Given the description of an element on the screen output the (x, y) to click on. 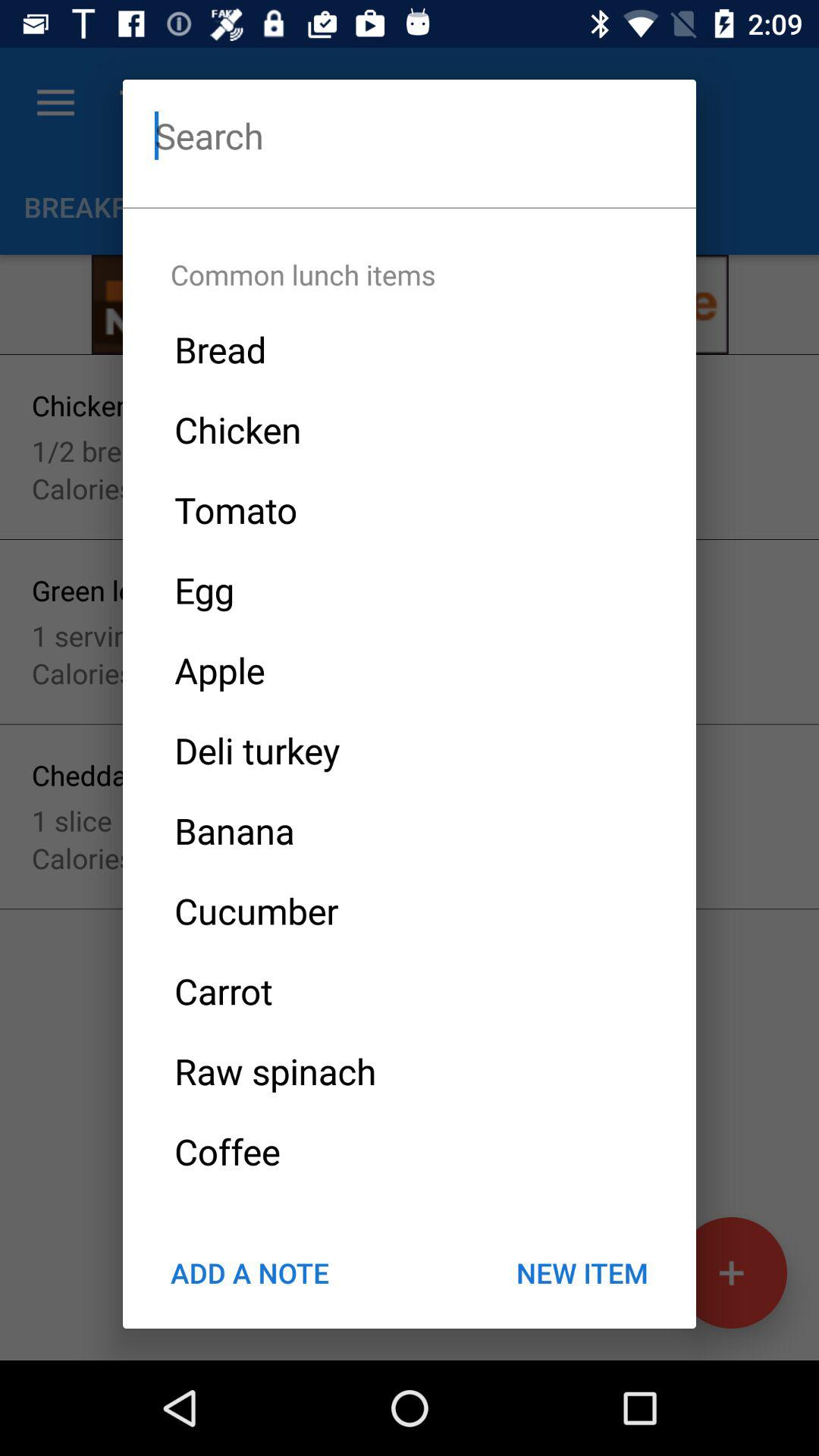
search field (409, 135)
